Given the description of an element on the screen output the (x, y) to click on. 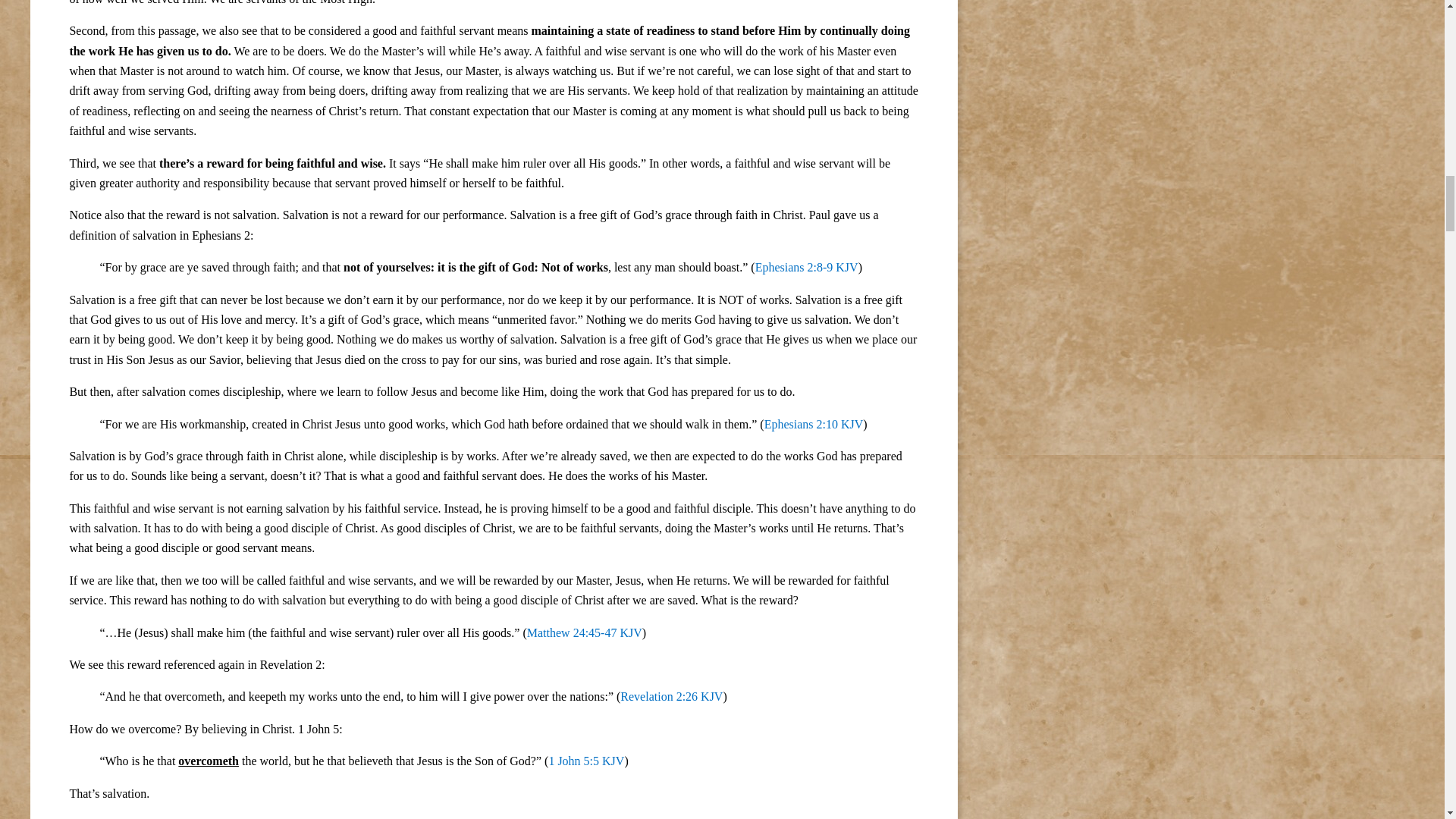
Revelation 2:26 KJV (671, 696)
Matthew 24:45-47 KJV (584, 632)
Ephesians 2:8-9 KJV (807, 267)
1 John 5:5 KJV (586, 760)
Ephesians 2:10 KJV (813, 422)
